Given the description of an element on the screen output the (x, y) to click on. 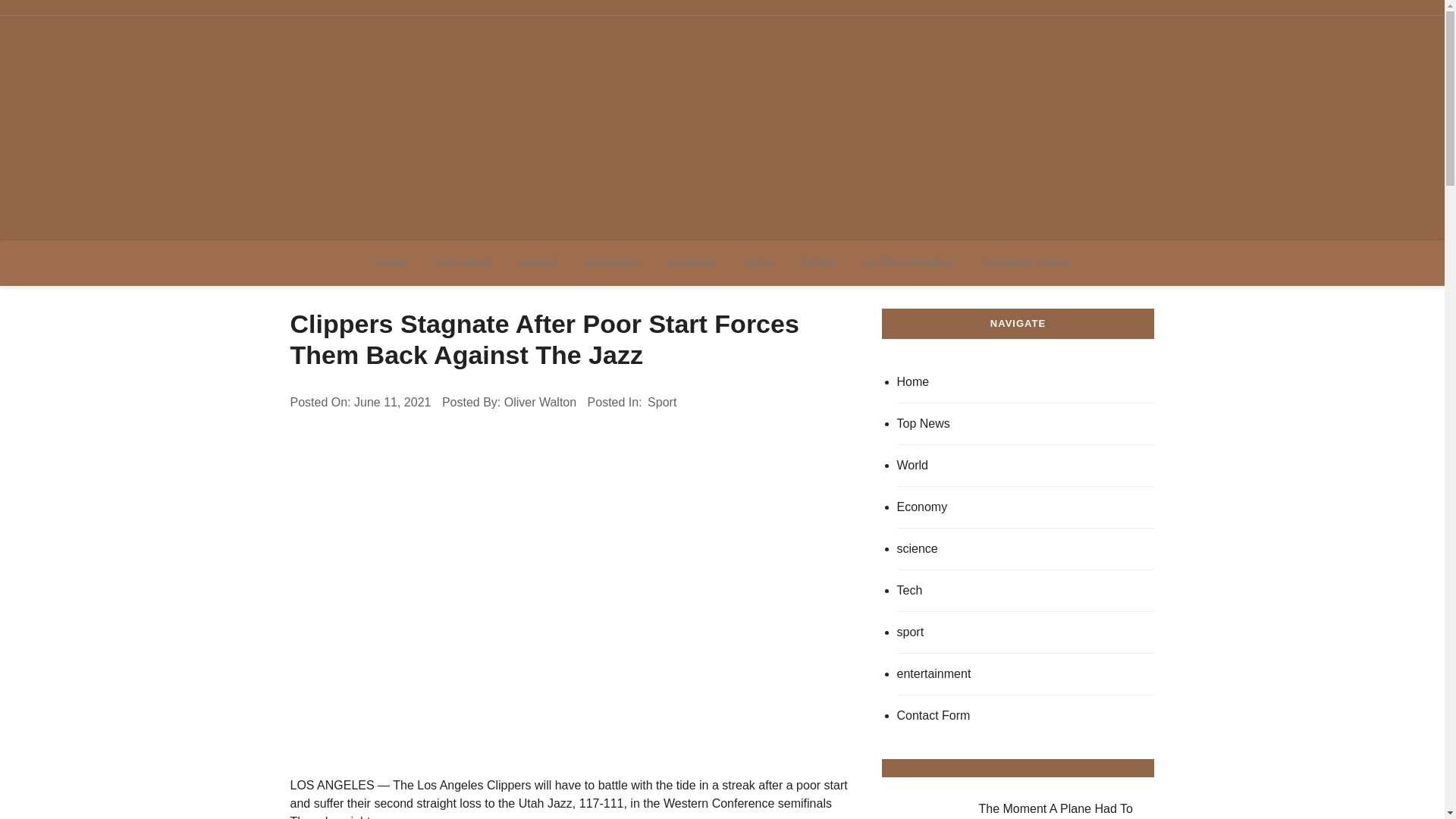
WORLD (538, 262)
TECH (758, 262)
ENTERTAINMENT (908, 262)
ECONOMY (613, 262)
HOME (390, 262)
SCIENCE (692, 262)
SPORT (817, 262)
CONTACT FORM (1026, 262)
